Given the description of an element on the screen output the (x, y) to click on. 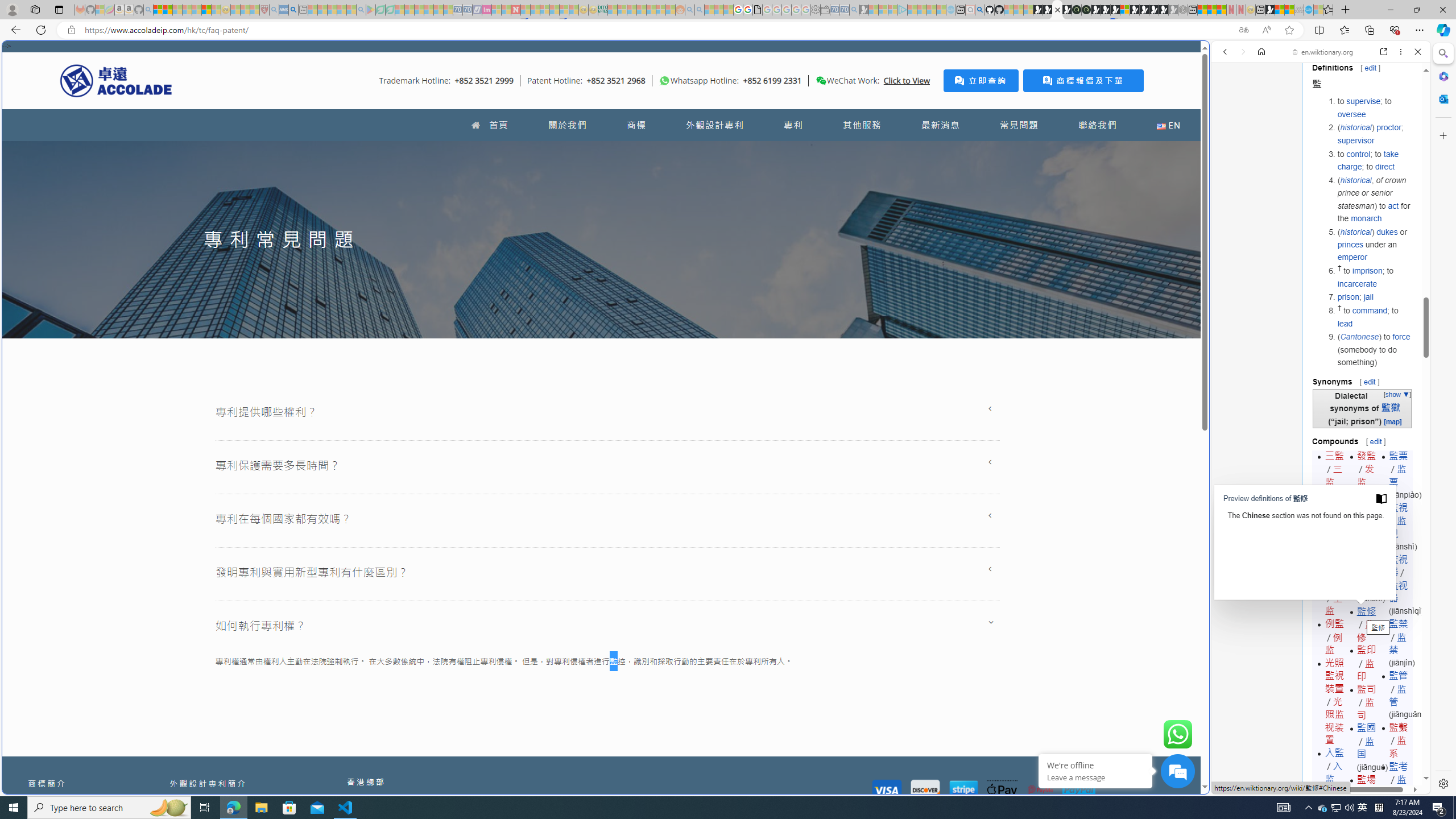
supervise (1363, 101)
Earth has six continents not seven, radical new study claims (1288, 9)
emperor (1351, 257)
Microsoft Start - Sleeping (930, 9)
Accolade IP HK Logo (116, 80)
